Given the description of an element on the screen output the (x, y) to click on. 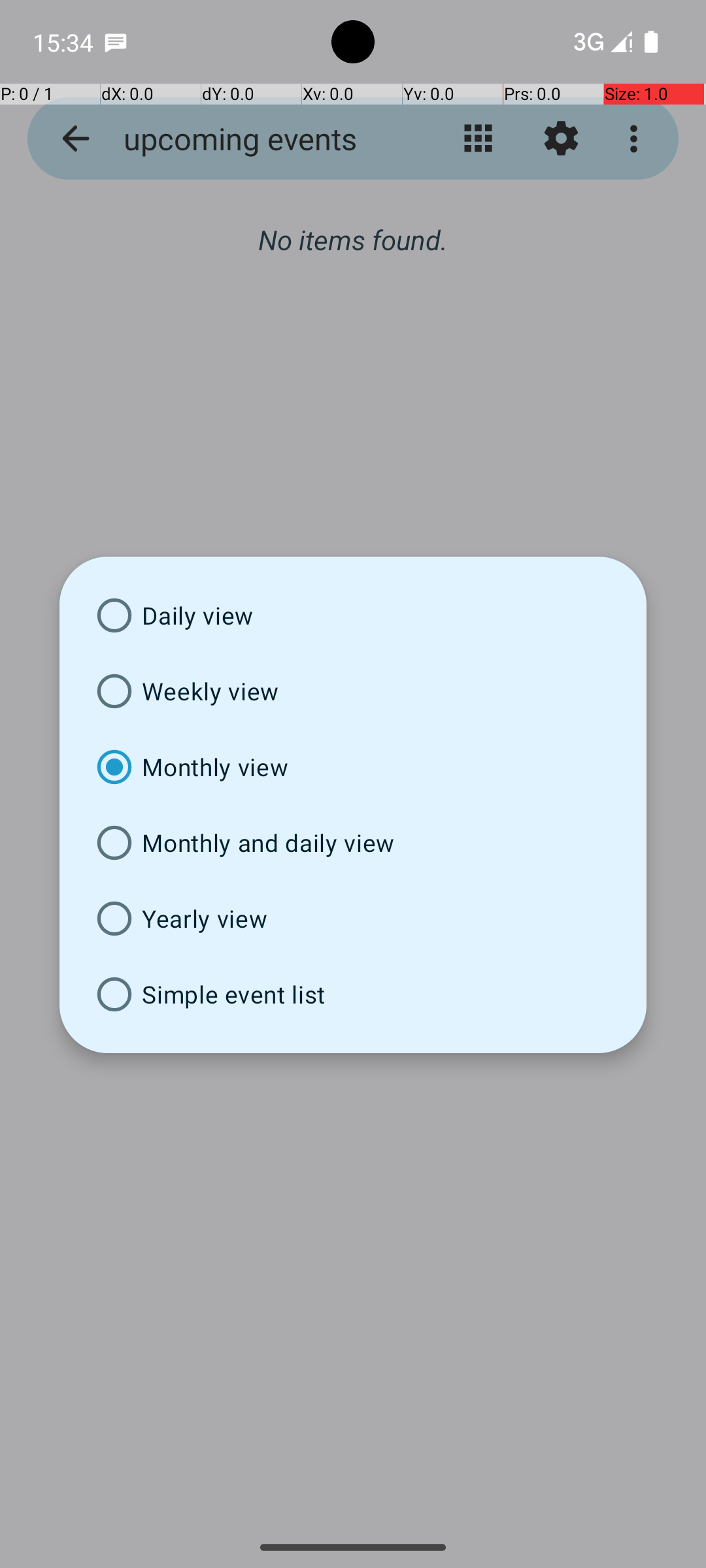
Daily view Element type: android.widget.RadioButton (352, 615)
Weekly view Element type: android.widget.RadioButton (352, 691)
Monthly view Element type: android.widget.RadioButton (352, 766)
Monthly and daily view Element type: android.widget.RadioButton (352, 842)
Yearly view Element type: android.widget.RadioButton (352, 918)
Simple event list Element type: android.widget.RadioButton (352, 994)
